Given the description of an element on the screen output the (x, y) to click on. 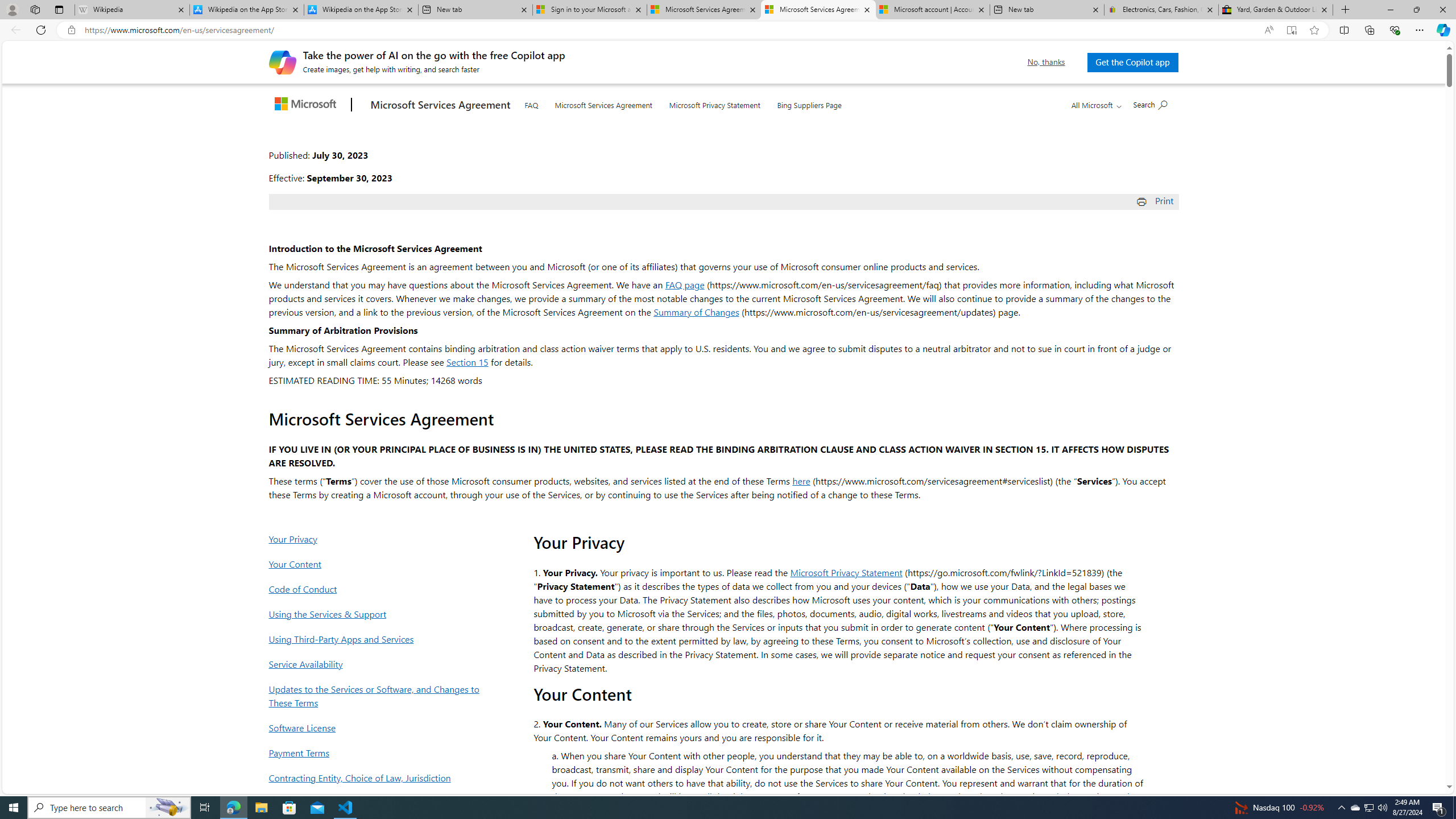
Using Third-Party Apps and Services (376, 639)
Your Content (376, 563)
Contracting Entity, Choice of Law, Jurisdiction (376, 777)
FAQ (531, 103)
Microsoft (306, 105)
Bing Suppliers Page (809, 103)
Get the Copilot app  (1131, 62)
